Given the description of an element on the screen output the (x, y) to click on. 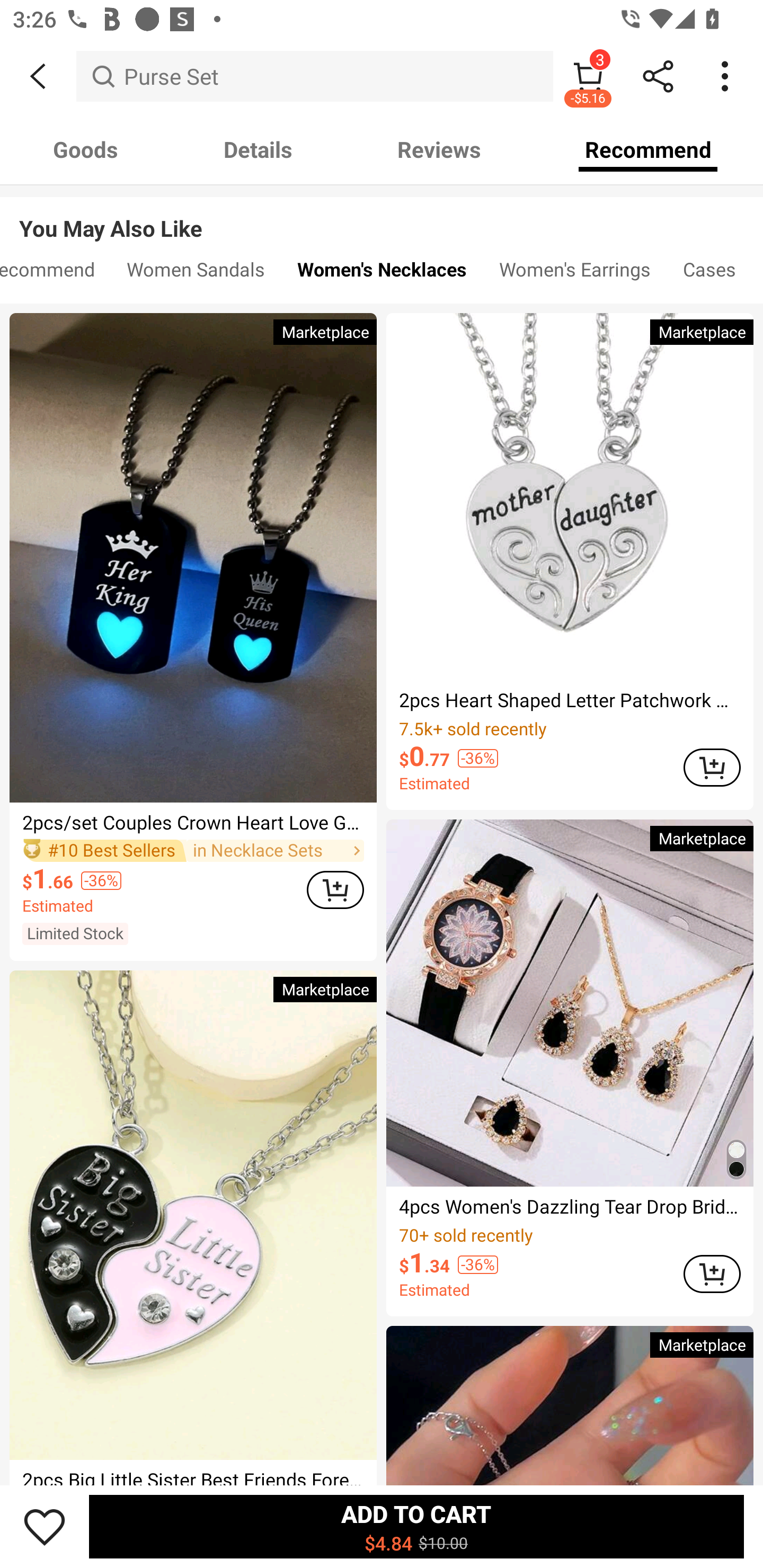
BACK (38, 75)
3 -$5.16 (588, 75)
Purse Set (314, 75)
Goods (85, 149)
Details (257, 149)
Reviews (439, 149)
Recommend (648, 149)
You May Also Like (381, 215)
Recommend (55, 273)
Women Sandals (195, 273)
Women's Necklaces (381, 273)
Women's Earrings (574, 273)
Cases (708, 273)
ADD TO CART (711, 767)
#10 Best Sellers in Necklace Sets (192, 850)
ADD TO CART (334, 889)
ADD TO CART (711, 1273)
ADD TO CART $4.84 $10.00 (416, 1526)
Save (44, 1526)
